Given the description of an element on the screen output the (x, y) to click on. 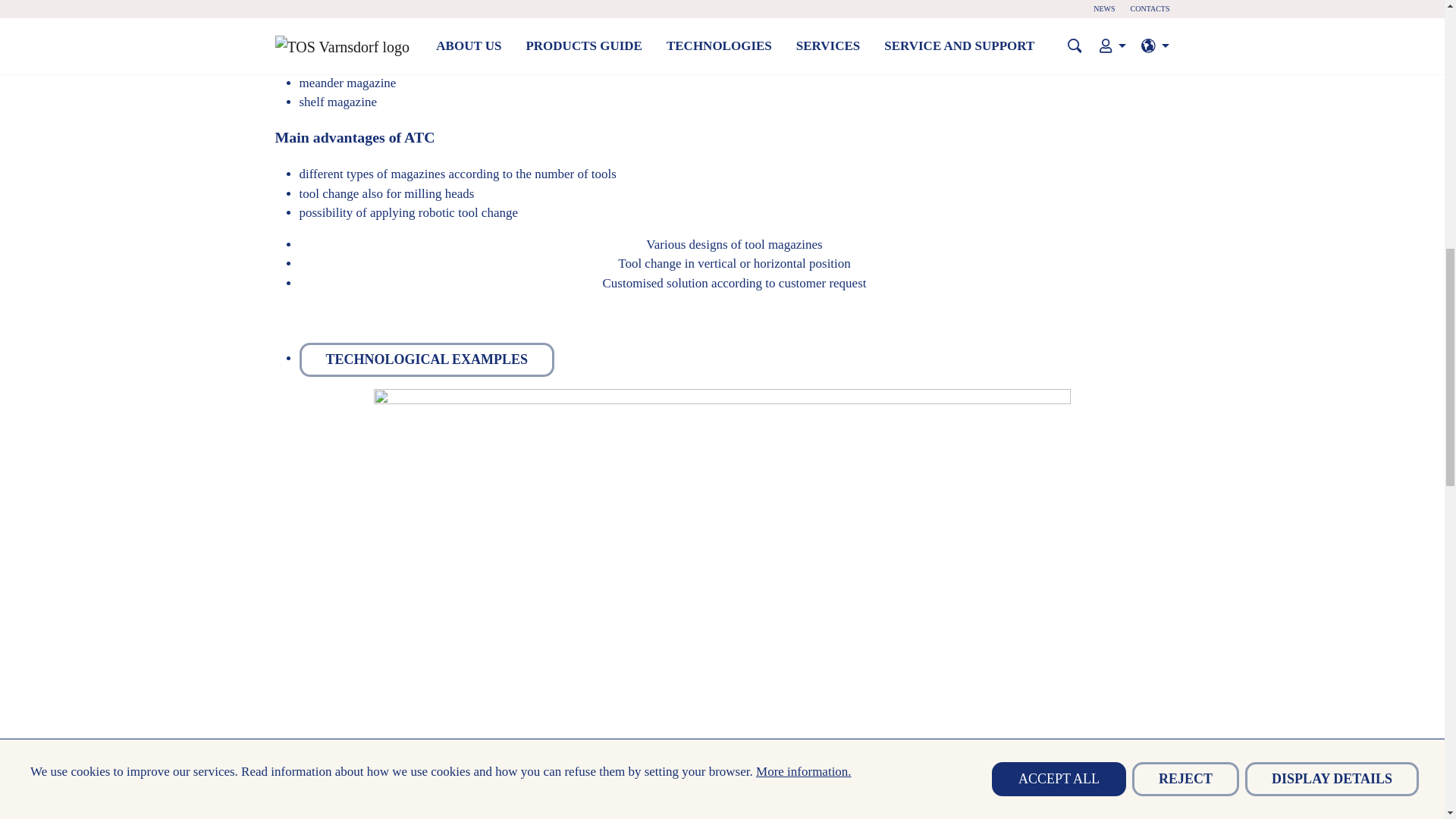
TECHNOLOGICAL EXAMPLES (426, 359)
